Given the description of an element on the screen output the (x, y) to click on. 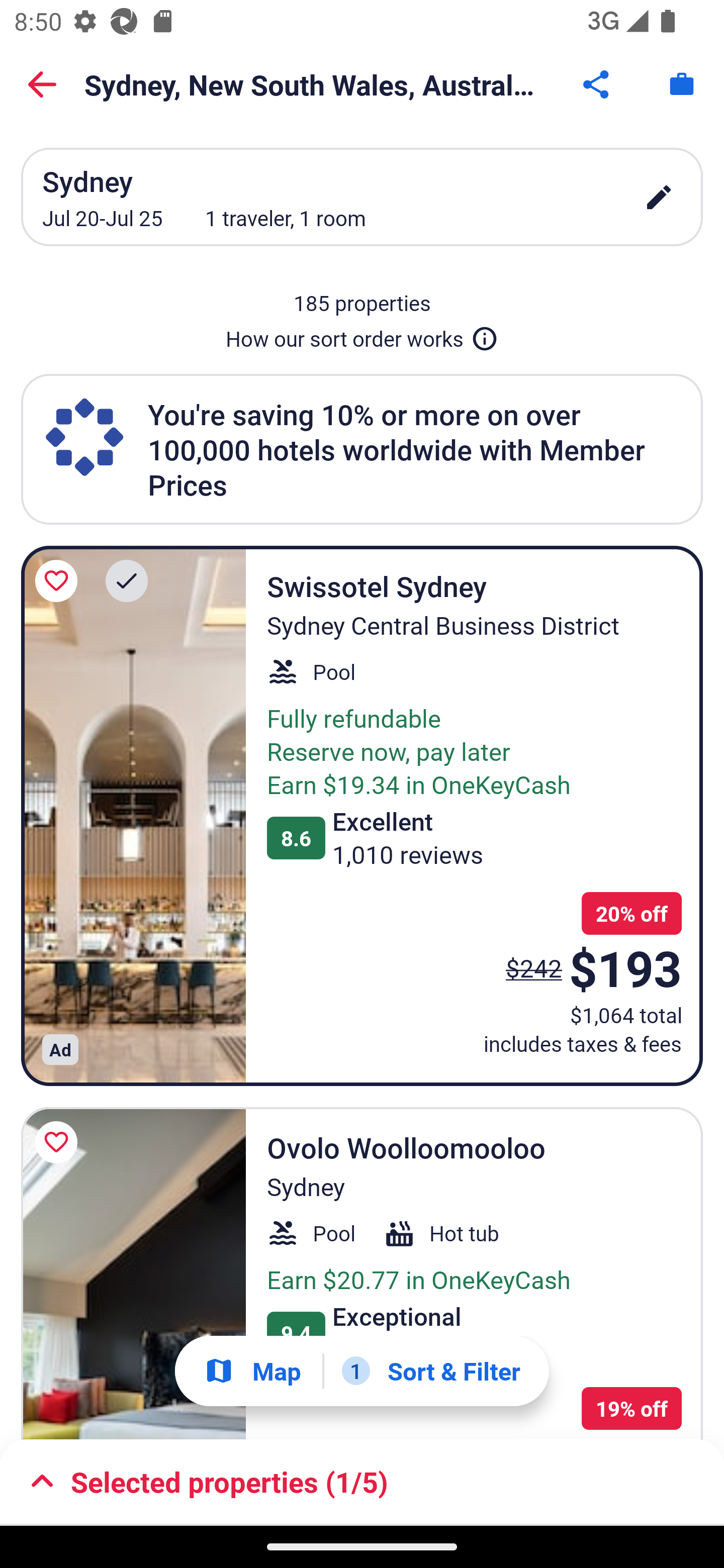
Back (42, 84)
Share Button (597, 84)
Trips. Button (681, 84)
Sydney Jul 20-Jul 25 1 traveler, 1 room edit (361, 196)
How our sort order works (361, 334)
Save Swissotel Sydney to a trip (59, 580)
Swissotel Sydney (133, 815)
$242 The price was $242 (533, 967)
Save Ovolo Woolloomooloo to a trip (59, 1141)
Ovolo Woolloomooloo (133, 1273)
1 Sort & Filter 1 Filter applied. Filters Button (430, 1370)
Show map Map Show map Button (252, 1370)
